Given the description of an element on the screen output the (x, y) to click on. 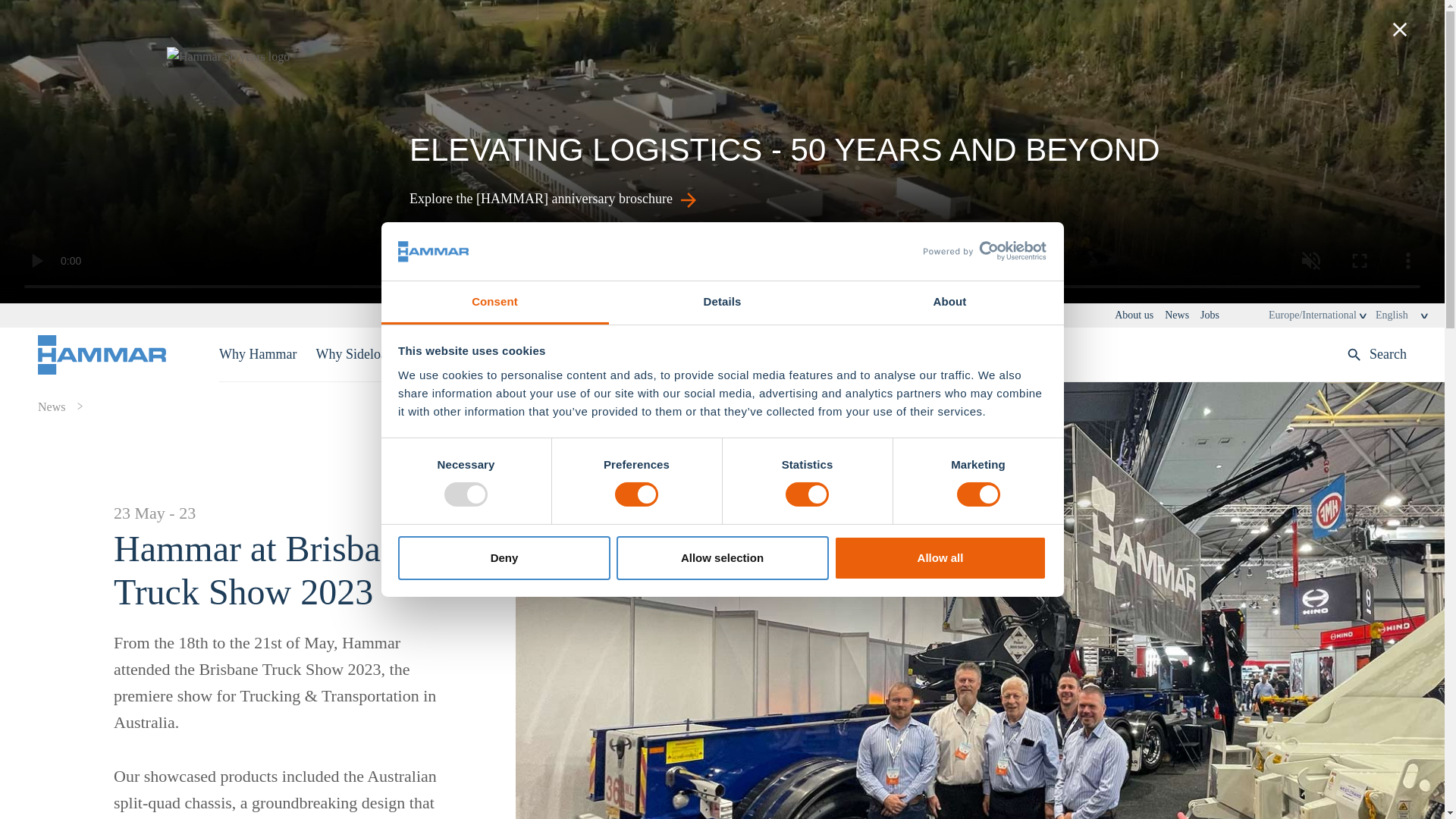
About (948, 302)
Details (721, 302)
Allow selection (721, 557)
Deny (503, 557)
Consent (494, 302)
